Given the description of an element on the screen output the (x, y) to click on. 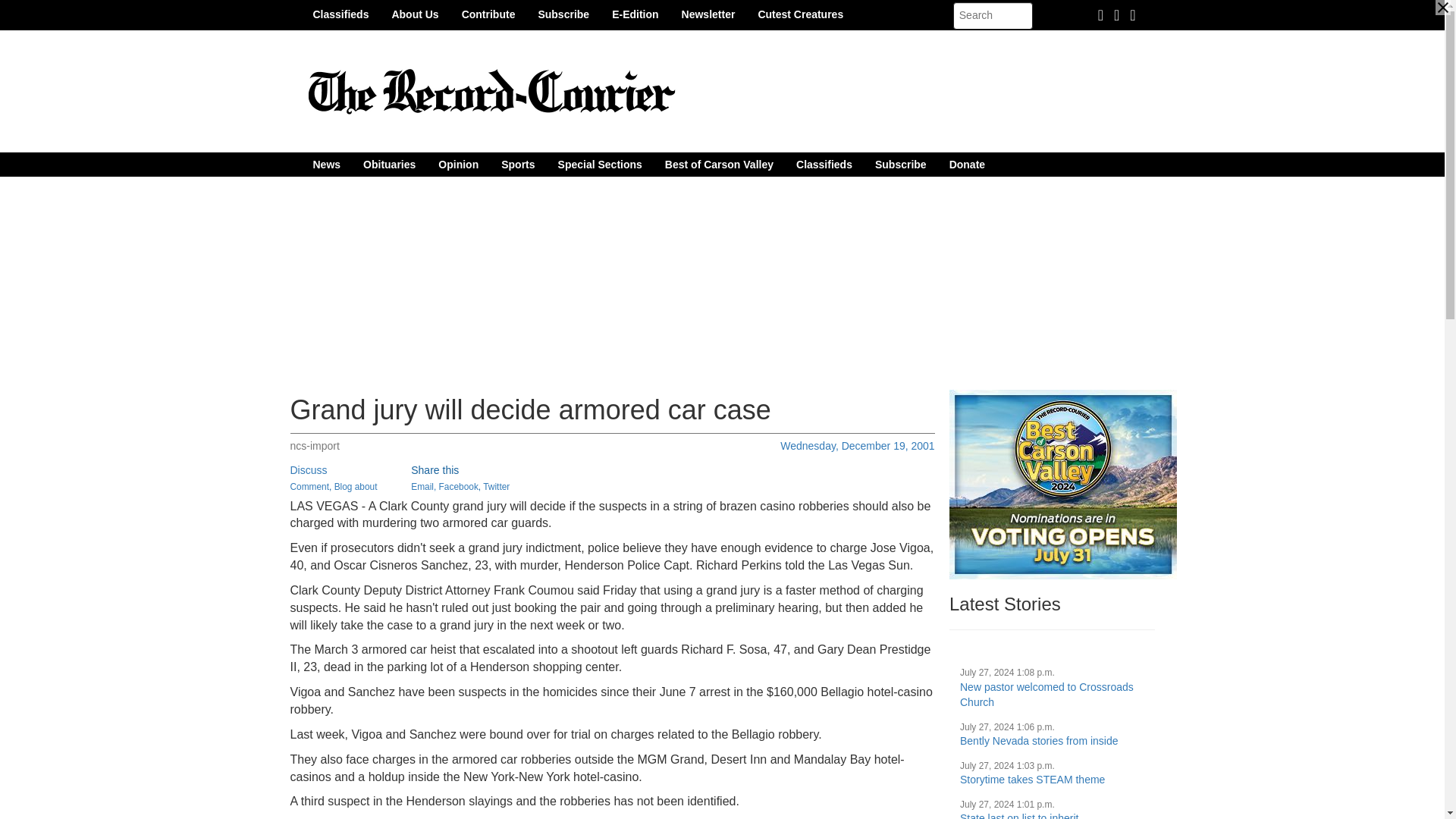
Cutest Creatures (799, 14)
Subscribe (900, 164)
Opinion (457, 164)
Sports (517, 164)
Classifieds (823, 164)
Obituaries (389, 164)
Newsletter (707, 14)
E-Edition (634, 14)
Best of Carson Valley (718, 164)
Subscribe (562, 14)
Classifieds (340, 14)
Special Sections (600, 164)
Contribute (488, 14)
News (326, 164)
